Given the description of an element on the screen output the (x, y) to click on. 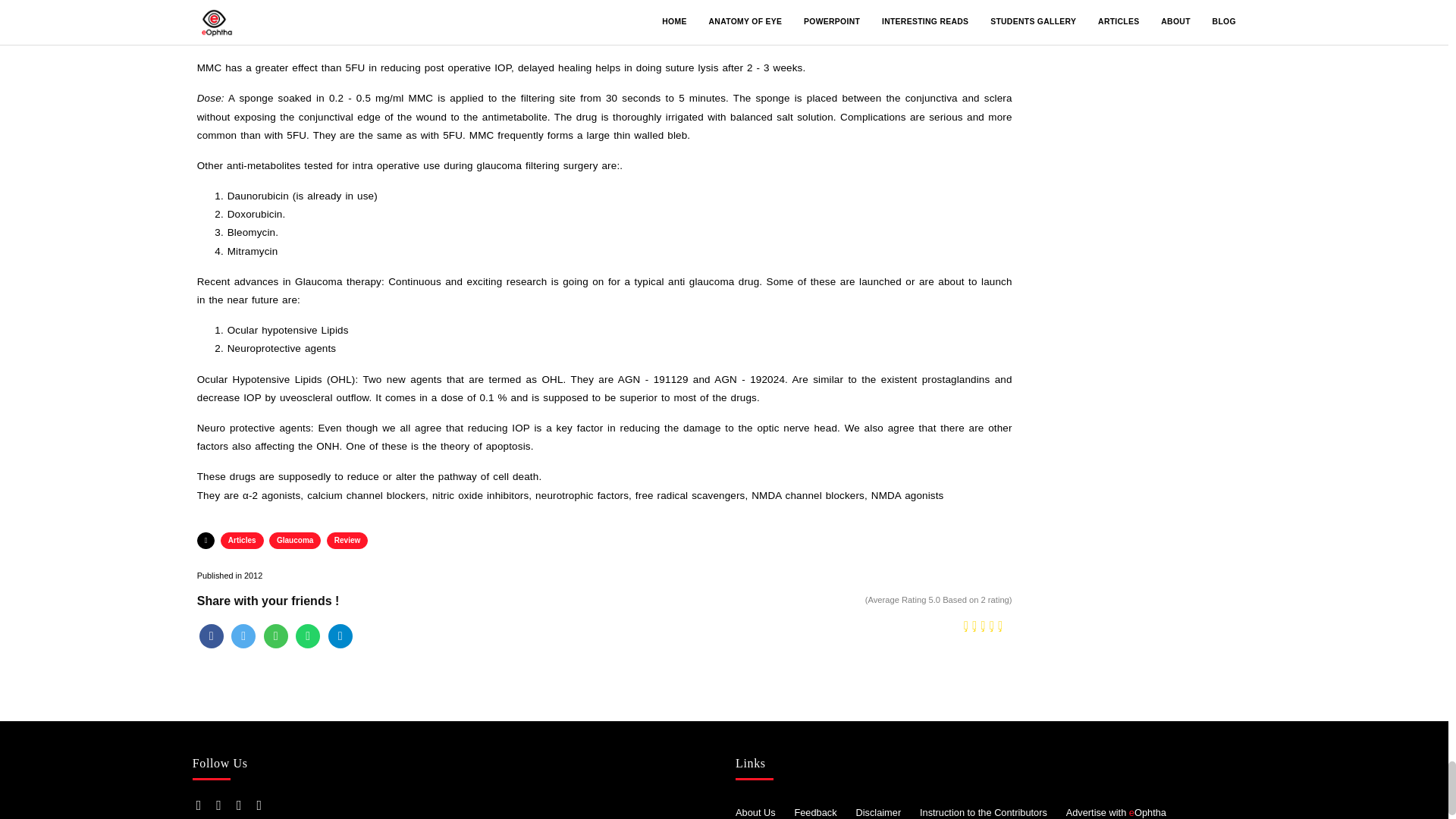
Glaucoma (294, 540)
Share on Twitter (243, 636)
Share on Email (275, 636)
Share on Whatsapp web (307, 636)
Share on Telegram (340, 636)
Review (347, 540)
Share on Facebook (211, 636)
Articles (242, 540)
